Given the description of an element on the screen output the (x, y) to click on. 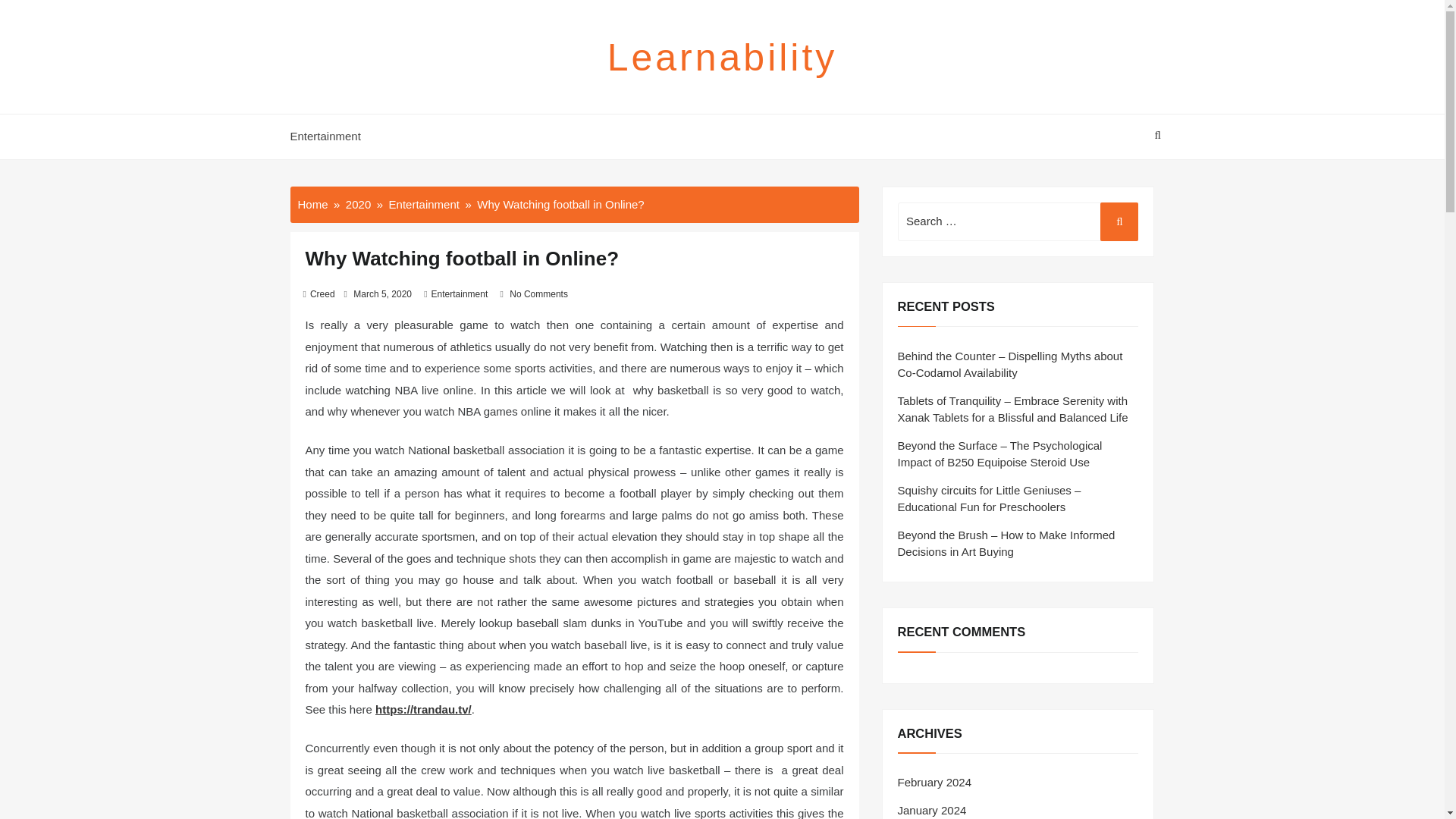
Home (312, 203)
Creed (322, 294)
Learnability (722, 57)
March 5, 2020 (382, 294)
No Comments (538, 294)
February 2024 (935, 781)
Entertainment (458, 294)
Entertainment (328, 136)
January 2024 (932, 809)
Entertainment (424, 203)
